Given the description of an element on the screen output the (x, y) to click on. 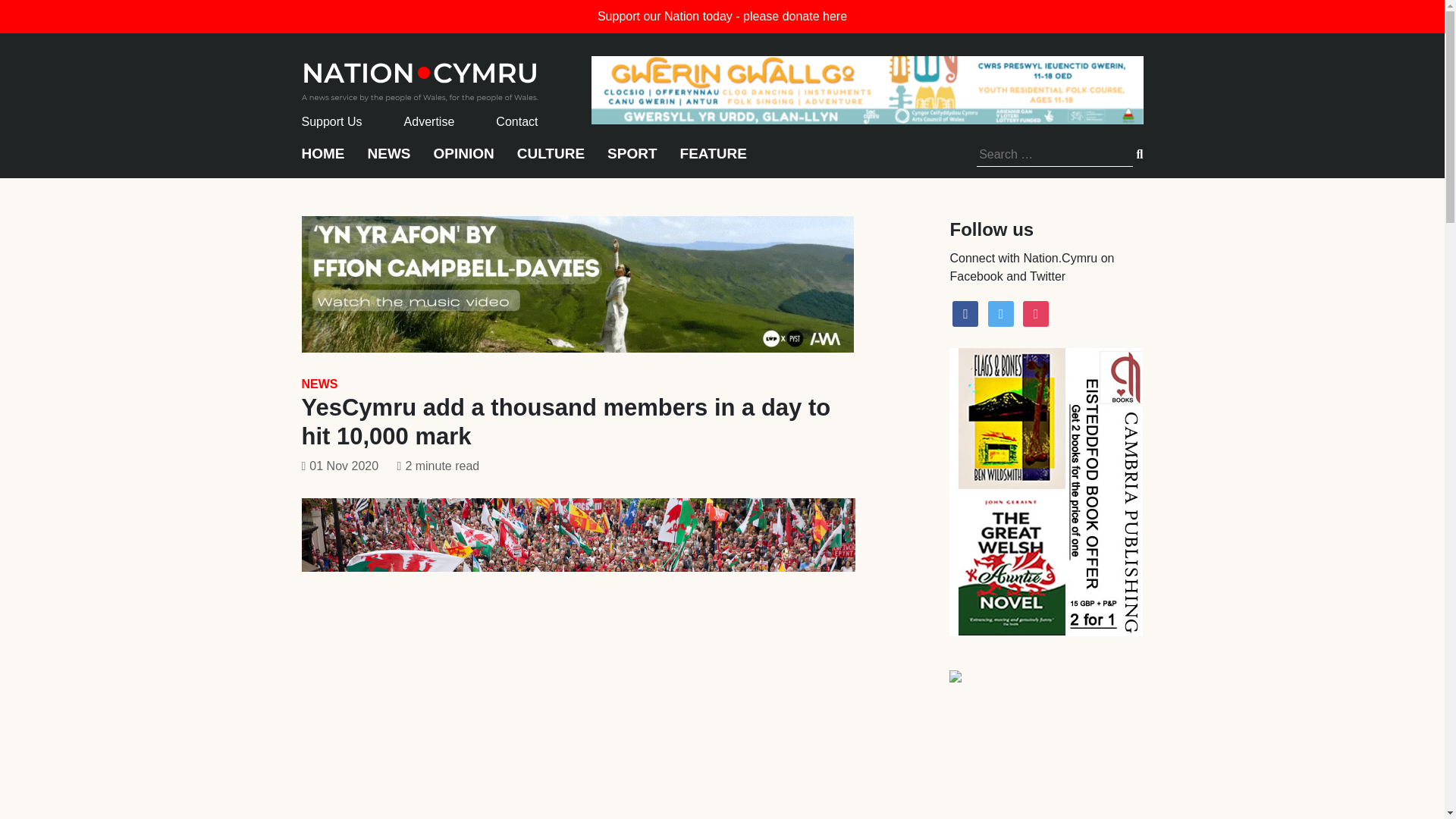
OPINION (464, 160)
twitter (1000, 312)
FEATURE (712, 160)
HOME (323, 160)
SPORT (631, 160)
instagram (1035, 312)
NEWS (319, 383)
NEWS (388, 160)
facebook (965, 312)
Contact (516, 121)
